Given the description of an element on the screen output the (x, y) to click on. 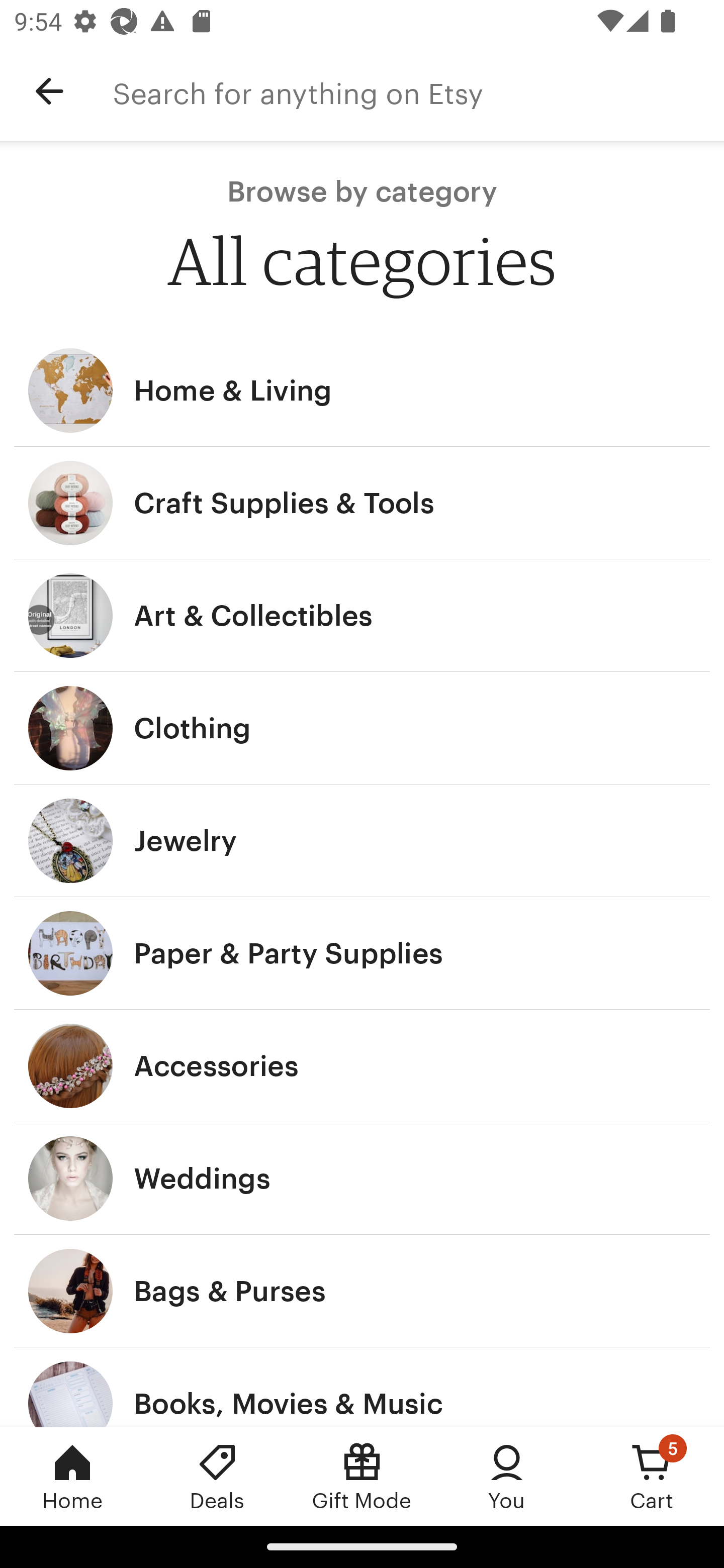
Navigate up (49, 91)
Search for anything on Etsy (418, 91)
Home & Living (361, 389)
Craft Supplies & Tools (361, 502)
Art & Collectibles (361, 615)
Clothing (361, 728)
Jewelry (361, 840)
Paper & Party Supplies (361, 952)
Accessories (361, 1065)
Weddings (361, 1178)
Bags & Purses (361, 1290)
Books, Movies & Music (361, 1386)
Deals (216, 1475)
Gift Mode (361, 1475)
You (506, 1475)
Cart, 5 new notifications Cart (651, 1475)
